Given the description of an element on the screen output the (x, y) to click on. 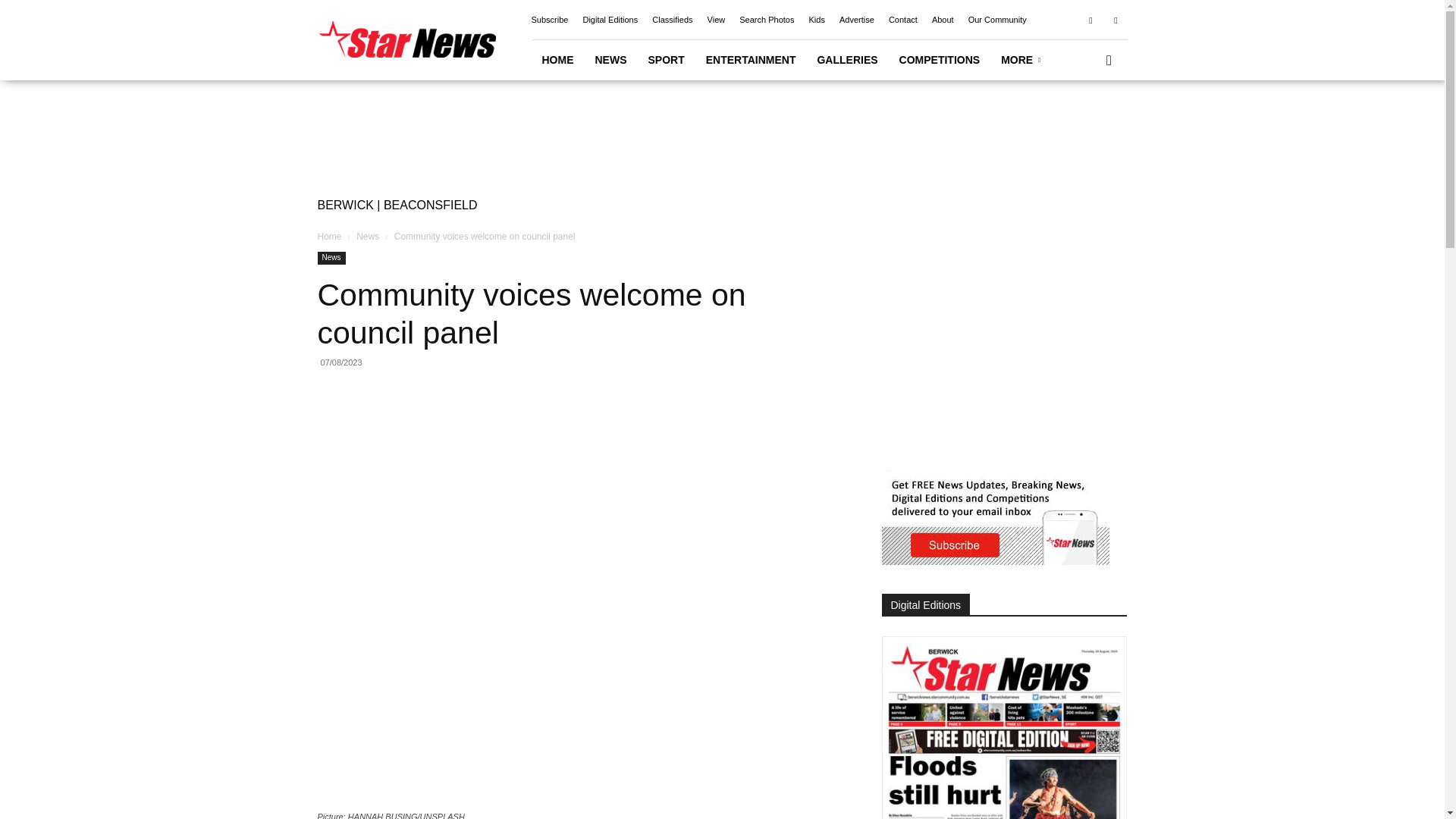
Subscribe (549, 19)
Classifieds (672, 19)
View (716, 19)
Search Photos (766, 19)
Contact (902, 19)
About (942, 19)
Twitter (1114, 19)
Kids (816, 19)
View all posts in News (367, 235)
Our Community (997, 19)
